Given the description of an element on the screen output the (x, y) to click on. 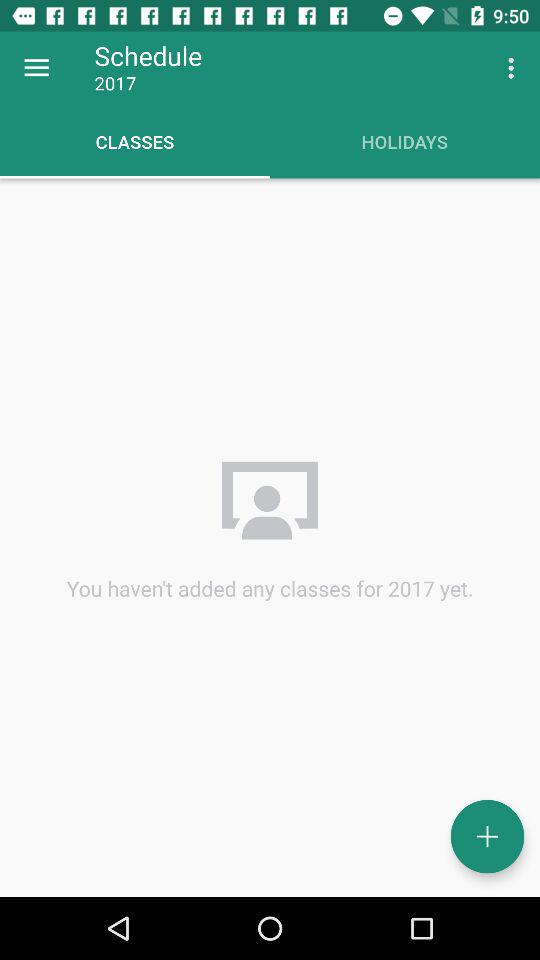
add a class (487, 836)
